Given the description of an element on the screen output the (x, y) to click on. 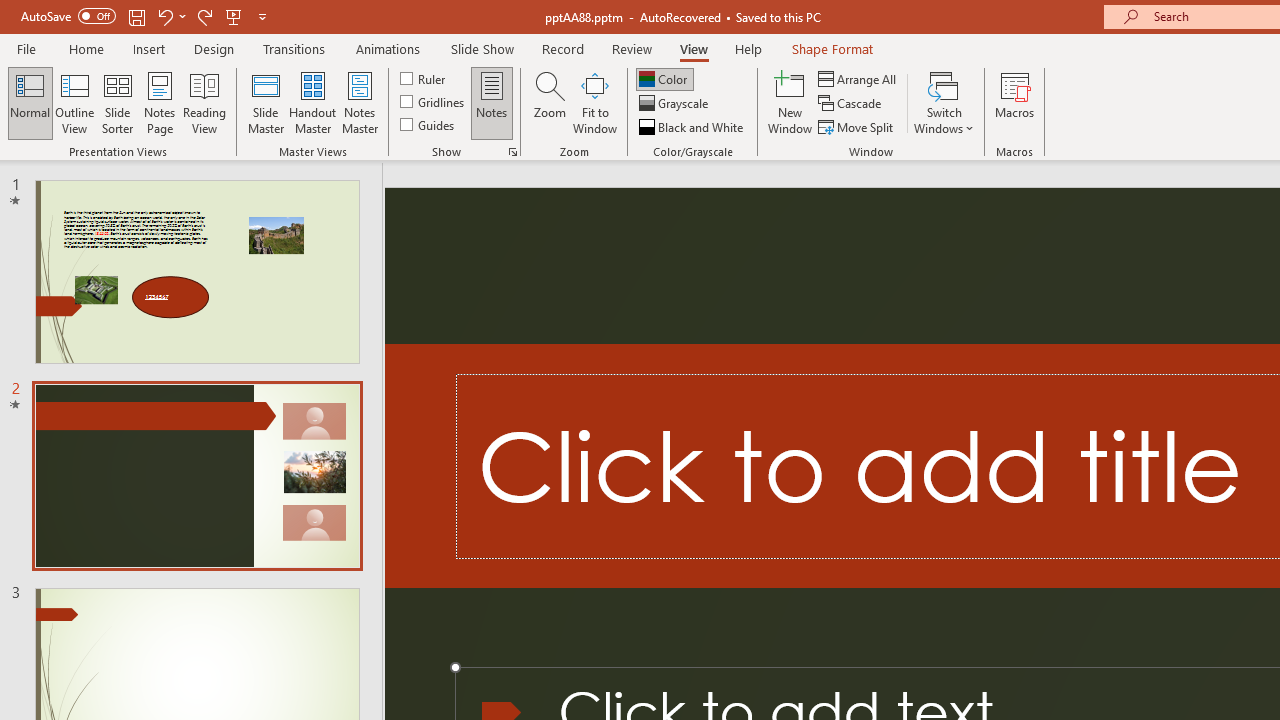
Ruler (423, 78)
Grid Settings... (512, 151)
